Given the description of an element on the screen output the (x, y) to click on. 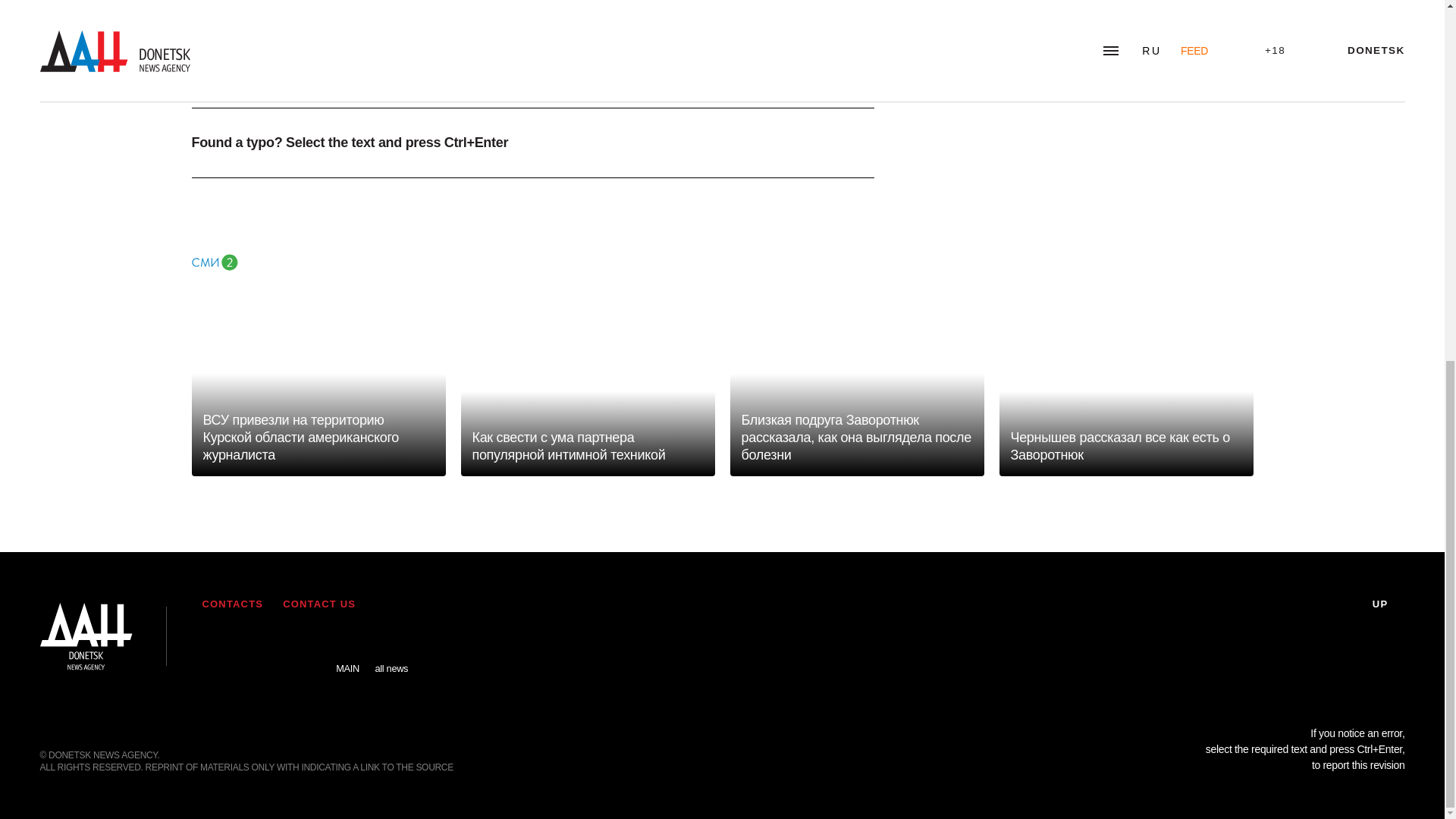
all news (390, 656)
UP (1389, 604)
VKontakte (262, 644)
RSS (217, 644)
Odnoklassniki (304, 644)
